Given the description of an element on the screen output the (x, y) to click on. 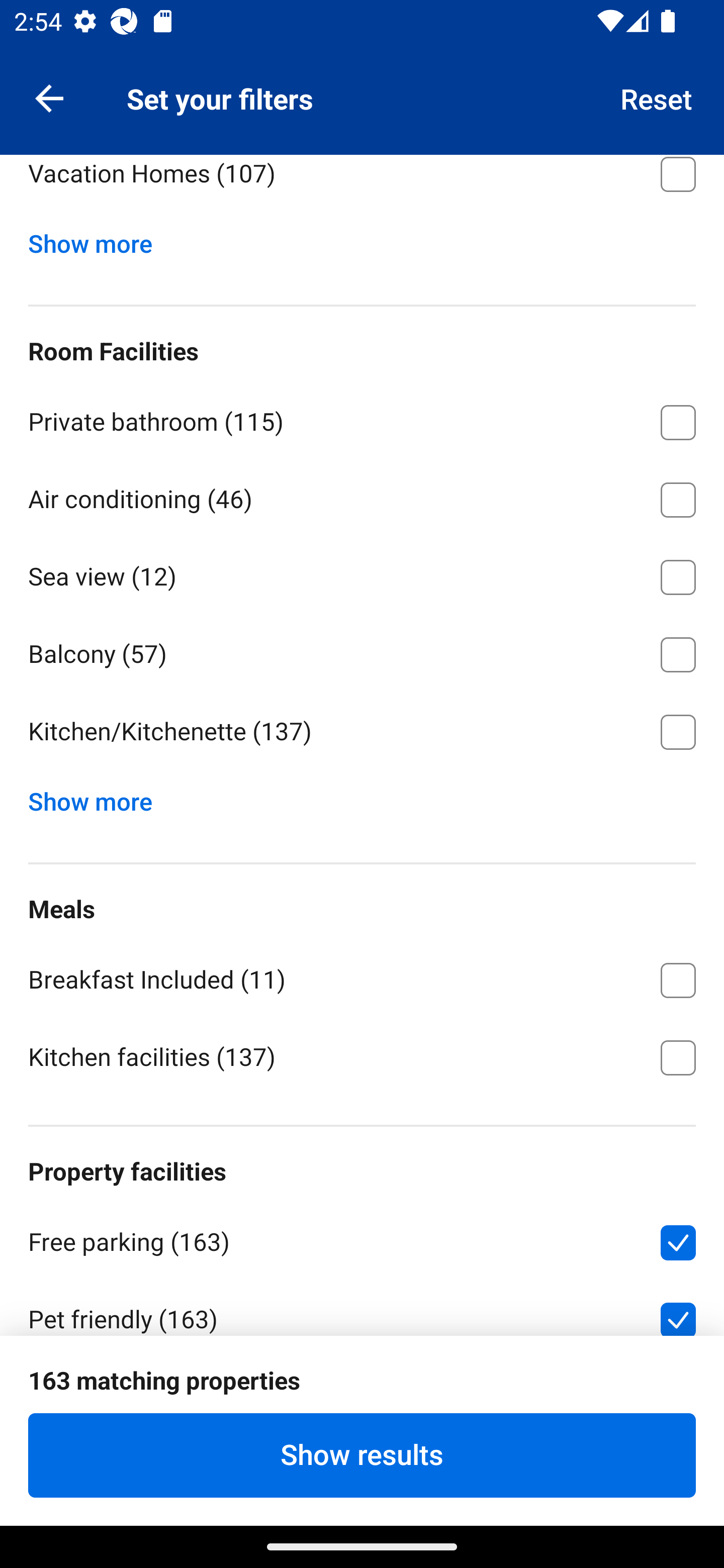
Navigate up (49, 97)
Apartments ⁦(9) (361, 92)
Reset (656, 97)
Vacation Homes ⁦(107) (361, 185)
Show more (97, 238)
Private bathroom ⁦(115) (361, 419)
Air conditioning ⁦(46) (361, 495)
Sea view ⁦(12) (361, 573)
Balcony ⁦(57) (361, 651)
Kitchen/Kitchenette ⁦(137) (361, 731)
Show more (97, 797)
Breakfast Included ⁦(11) (361, 976)
Kitchen facilities ⁦(137) (361, 1056)
Free parking ⁦(163) (361, 1239)
Pet friendly ⁦(163) (361, 1306)
Swimming pool ⁦(46) (361, 1393)
Show results (361, 1454)
